Given the description of an element on the screen output the (x, y) to click on. 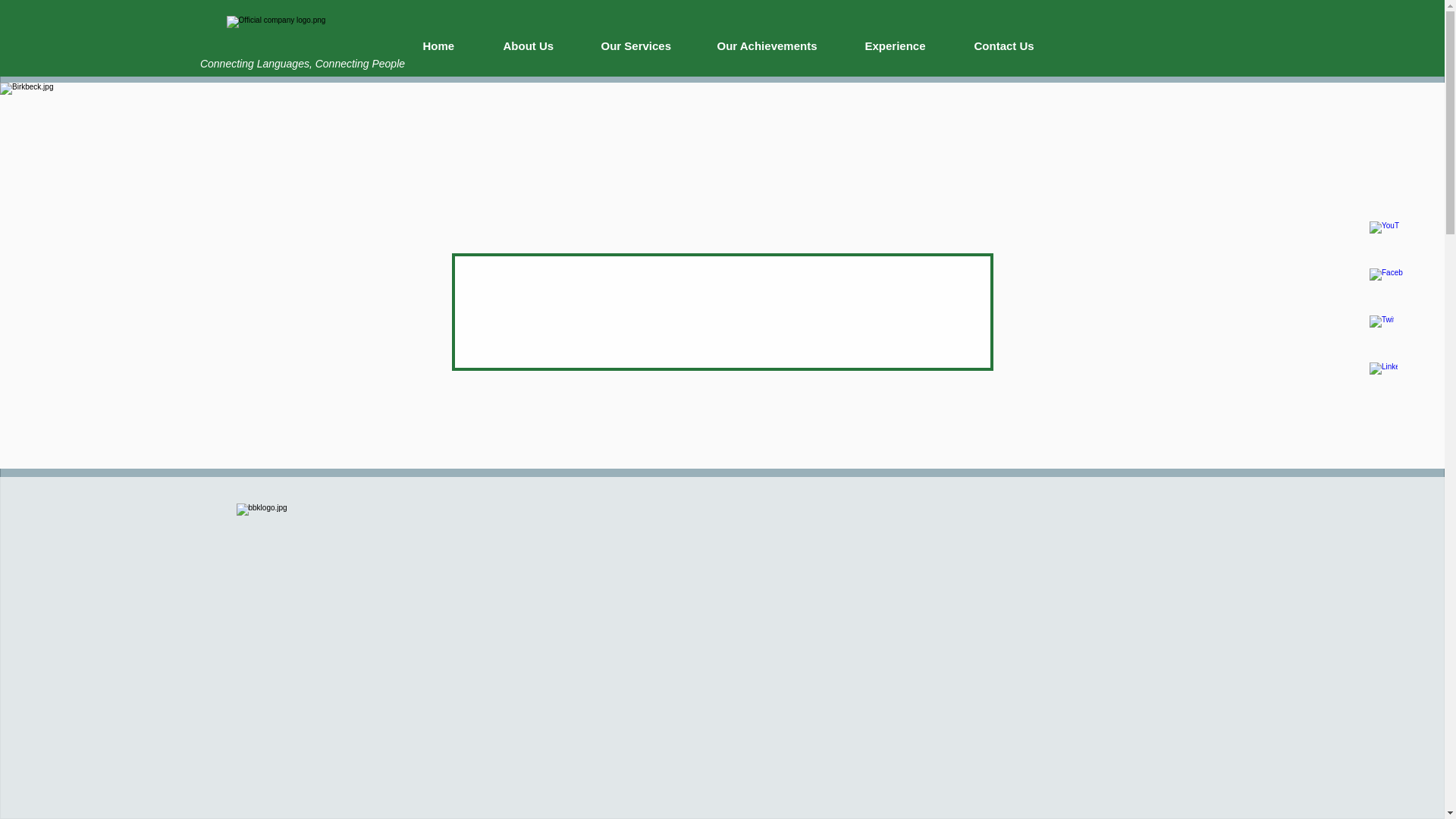
Our Services (647, 45)
Contact Us (1016, 45)
Home (451, 45)
Our Achievements (778, 45)
About Us (540, 45)
Experience (907, 45)
